Given the description of an element on the screen output the (x, y) to click on. 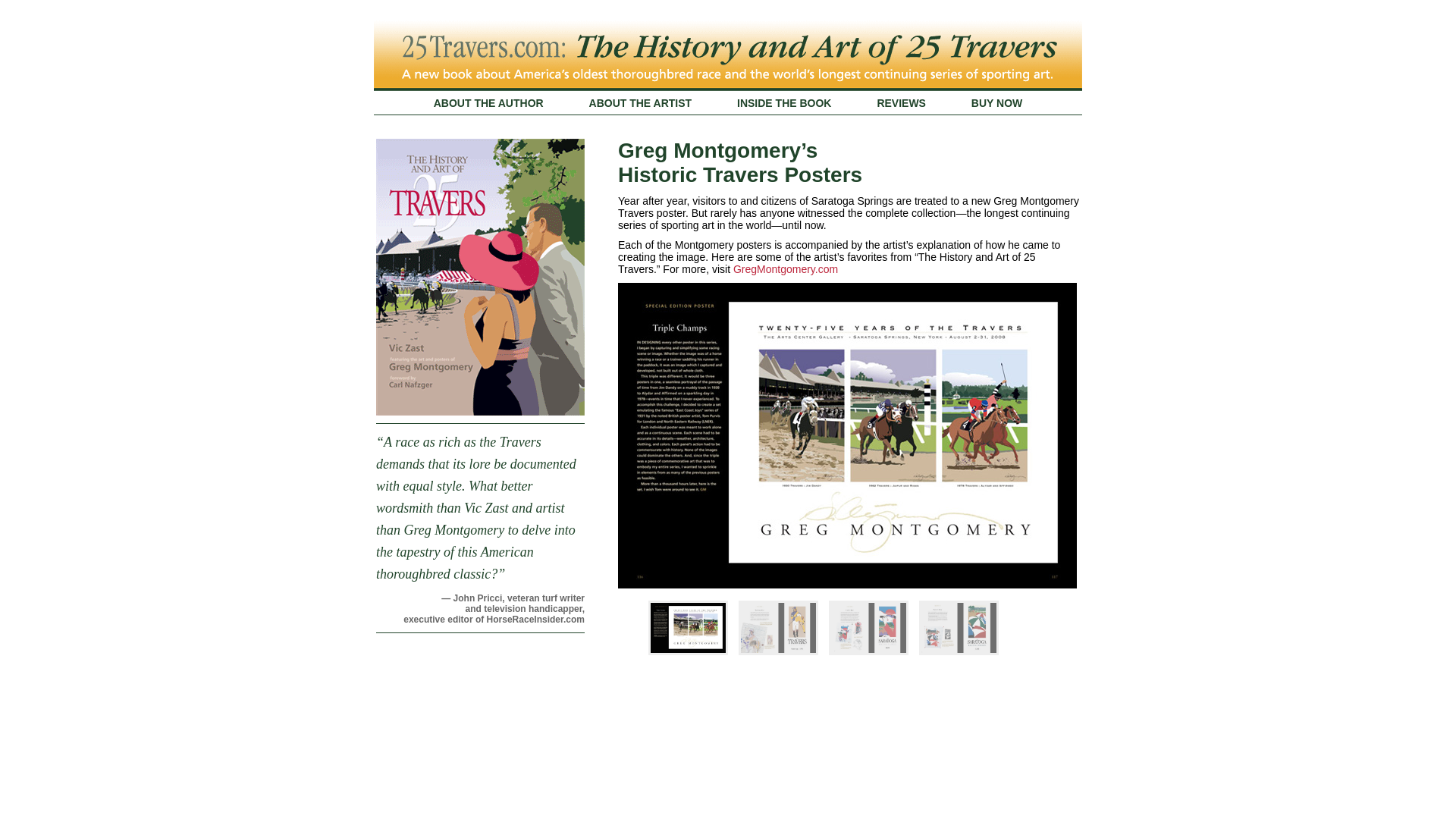
INSIDE THE BOOK Element type: text (783, 103)
REVIEWS Element type: text (901, 103)
ABOUT THE ARTIST Element type: text (640, 103)
BUY NOW Element type: text (996, 103)
GregMontgomery.com Element type: text (785, 269)
ABOUT THE AUTHOR Element type: text (488, 103)
